Given the description of an element on the screen output the (x, y) to click on. 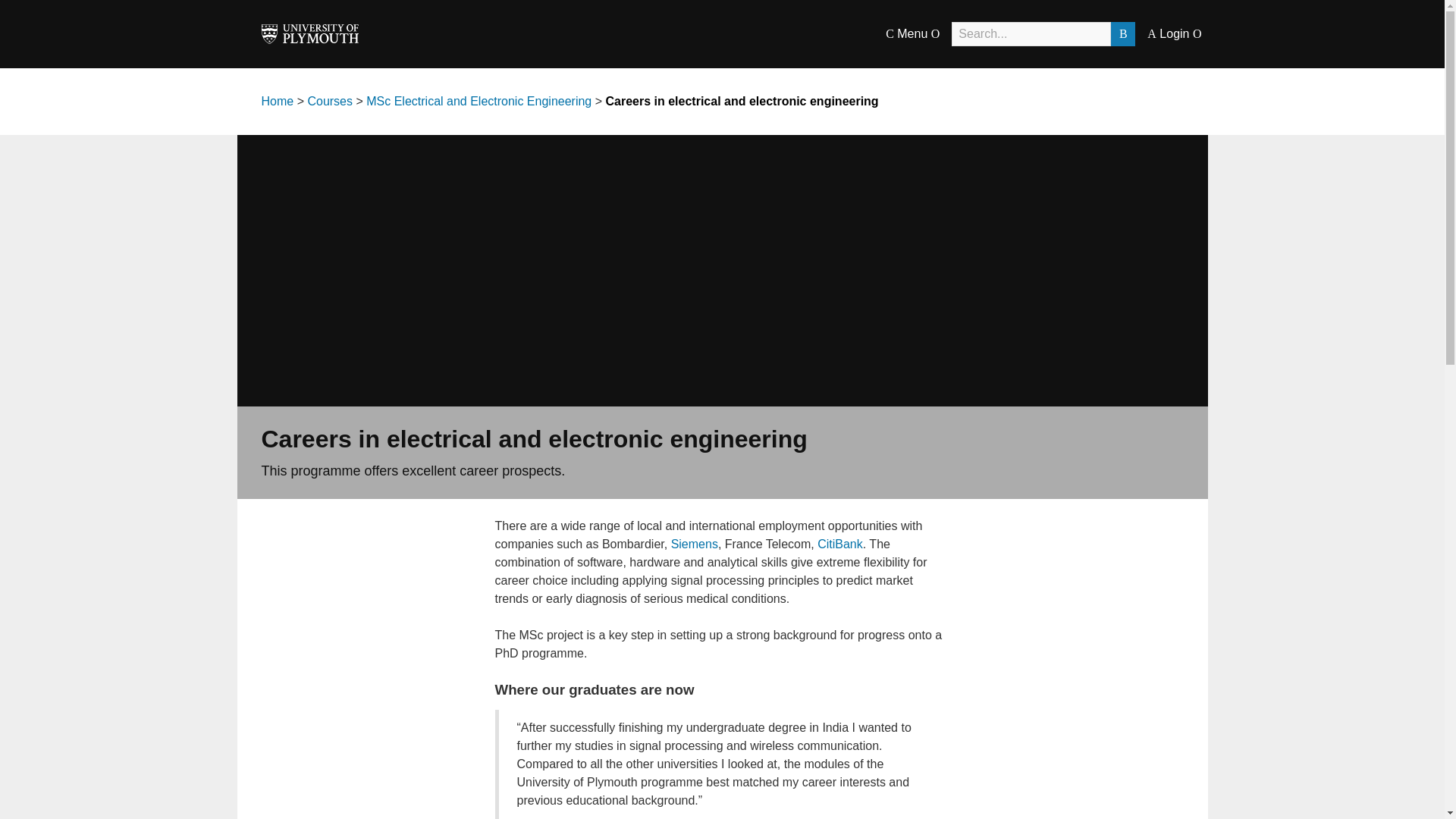
A Login O (1174, 33)
B (1122, 33)
C Menu O (911, 33)
